Given the description of an element on the screen output the (x, y) to click on. 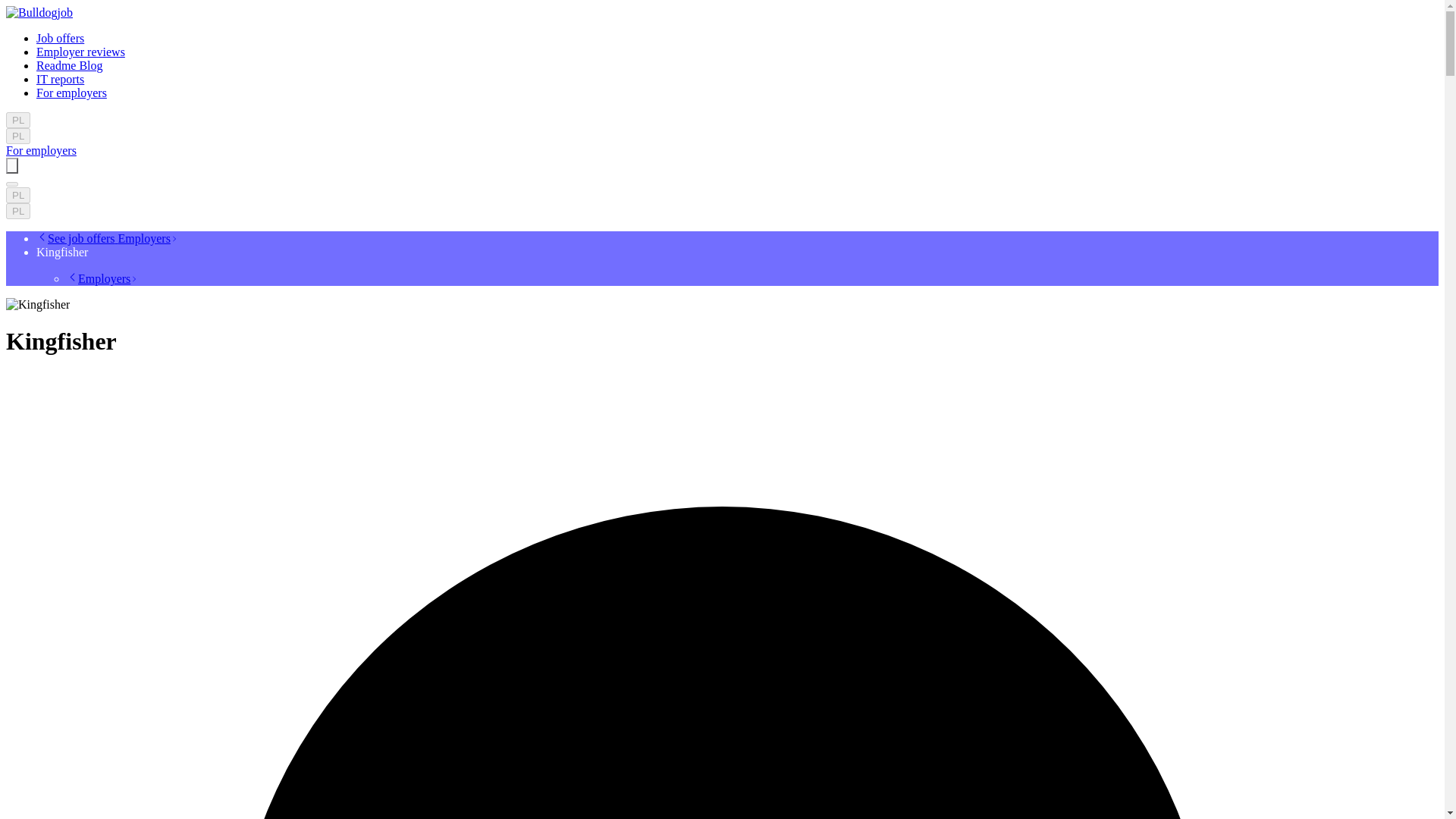
PL (17, 211)
PL (17, 119)
menu (11, 183)
PL (17, 135)
PL (17, 195)
See job offers Employers (106, 237)
Employer reviews (80, 51)
Job offers (60, 38)
Readme Blog (69, 65)
For employers (41, 150)
IT reports (60, 78)
Employers (102, 278)
For employers (71, 92)
